Given the description of an element on the screen output the (x, y) to click on. 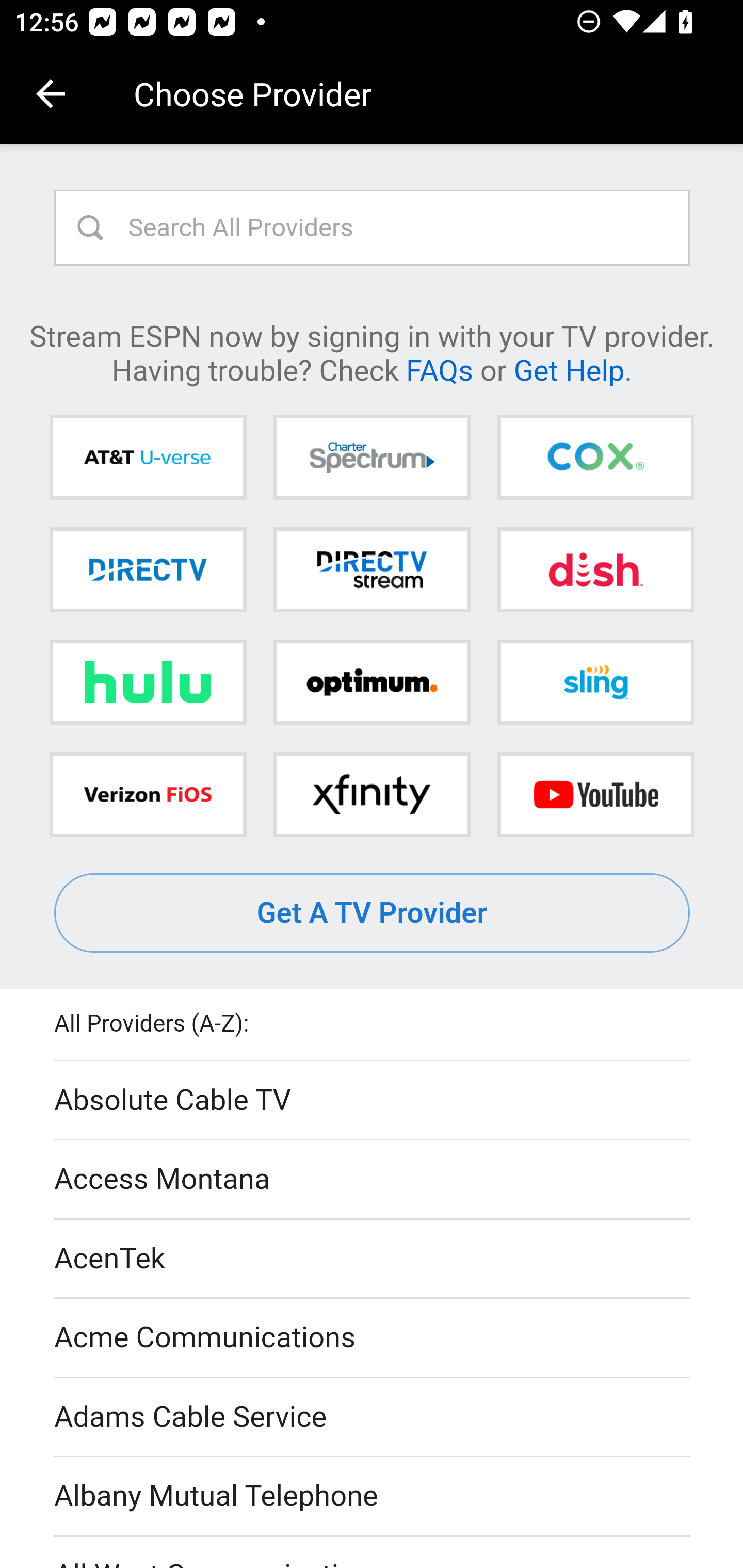
Navigate up (50, 93)
FAQs (438, 369)
Get Help (569, 369)
AT&T U-verse (147, 457)
Charter Spectrum (371, 457)
Cox (595, 457)
DIRECTV (147, 568)
DIRECTV STREAM (371, 568)
DISH (595, 568)
Hulu (147, 681)
Optimum (371, 681)
Sling TV (595, 681)
Verizon FiOS (147, 793)
Xfinity (371, 793)
YouTube TV (595, 793)
Get A TV Provider (372, 912)
Absolute Cable TV (372, 1100)
Access Montana (372, 1178)
AcenTek (372, 1258)
Acme Communications (372, 1338)
Adams Cable Service (372, 1417)
Albany Mutual Telephone (372, 1497)
